Given the description of an element on the screen output the (x, y) to click on. 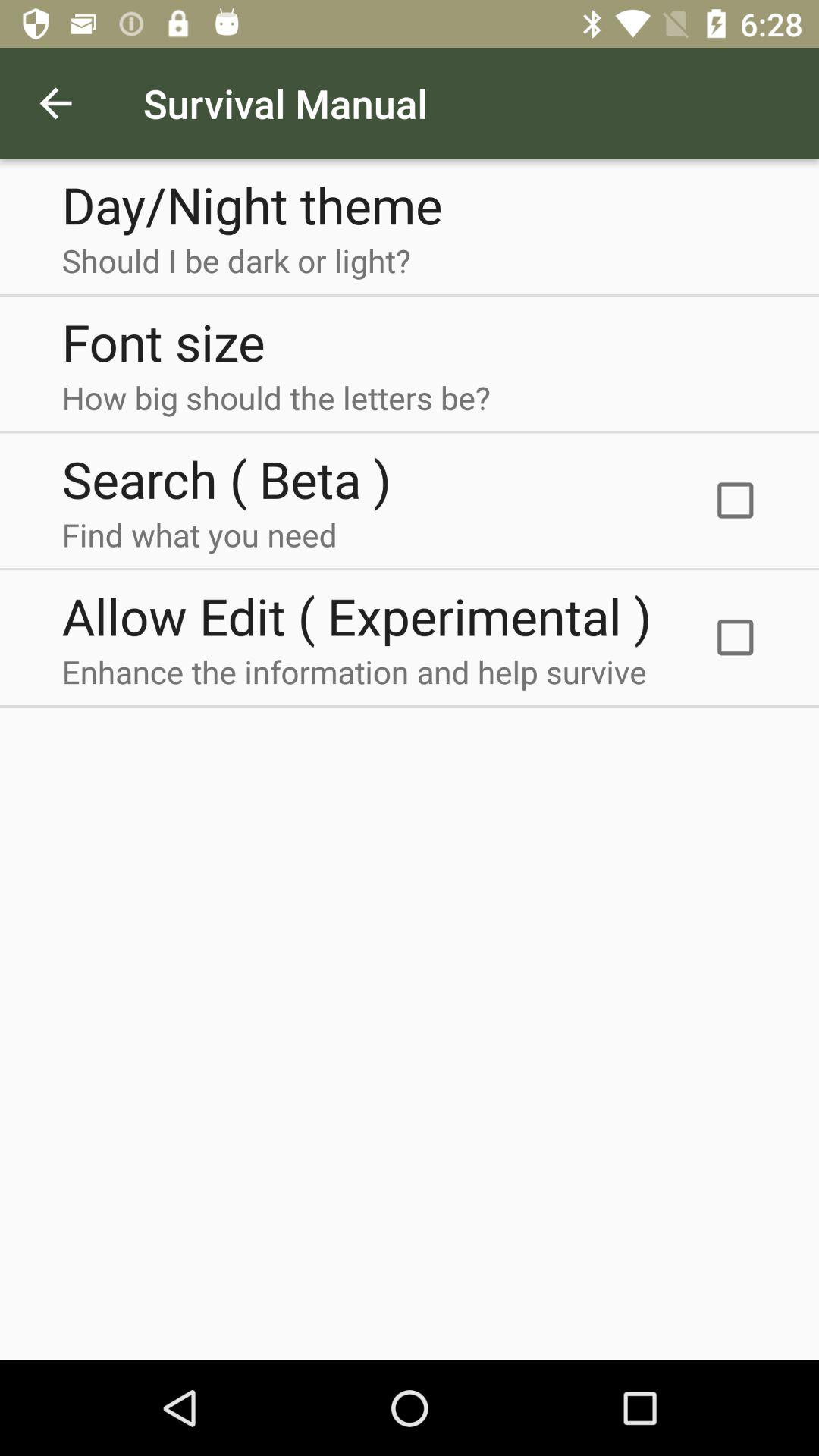
open item next to survival manual (55, 103)
